Given the description of an element on the screen output the (x, y) to click on. 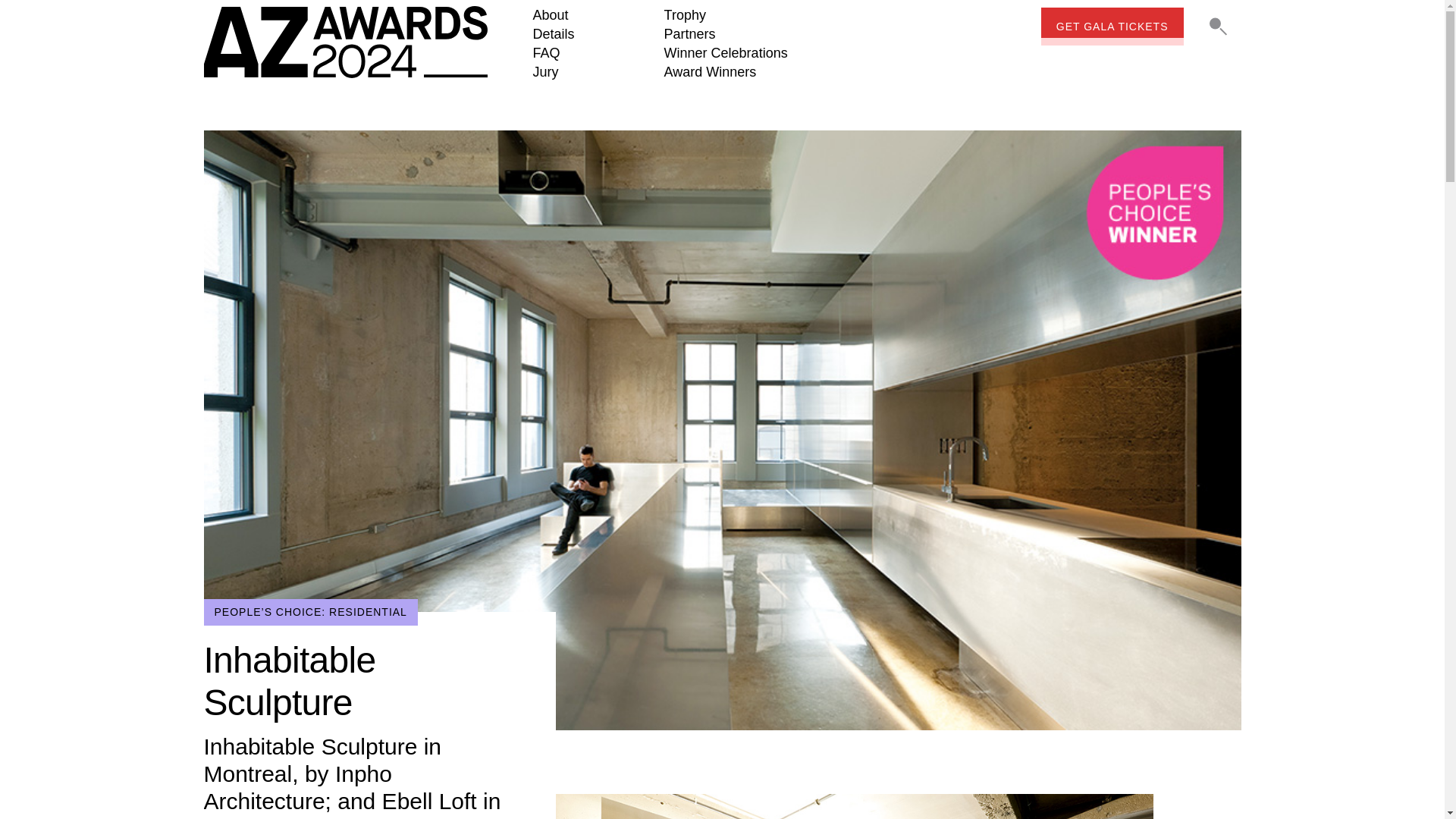
GET GALA TICKETS (1112, 26)
Details (552, 33)
Trophy (684, 14)
About (549, 14)
Winner Celebrations (725, 52)
Award Winners (710, 71)
FAQ (545, 52)
Jury (544, 71)
Partners (689, 33)
